Given the description of an element on the screen output the (x, y) to click on. 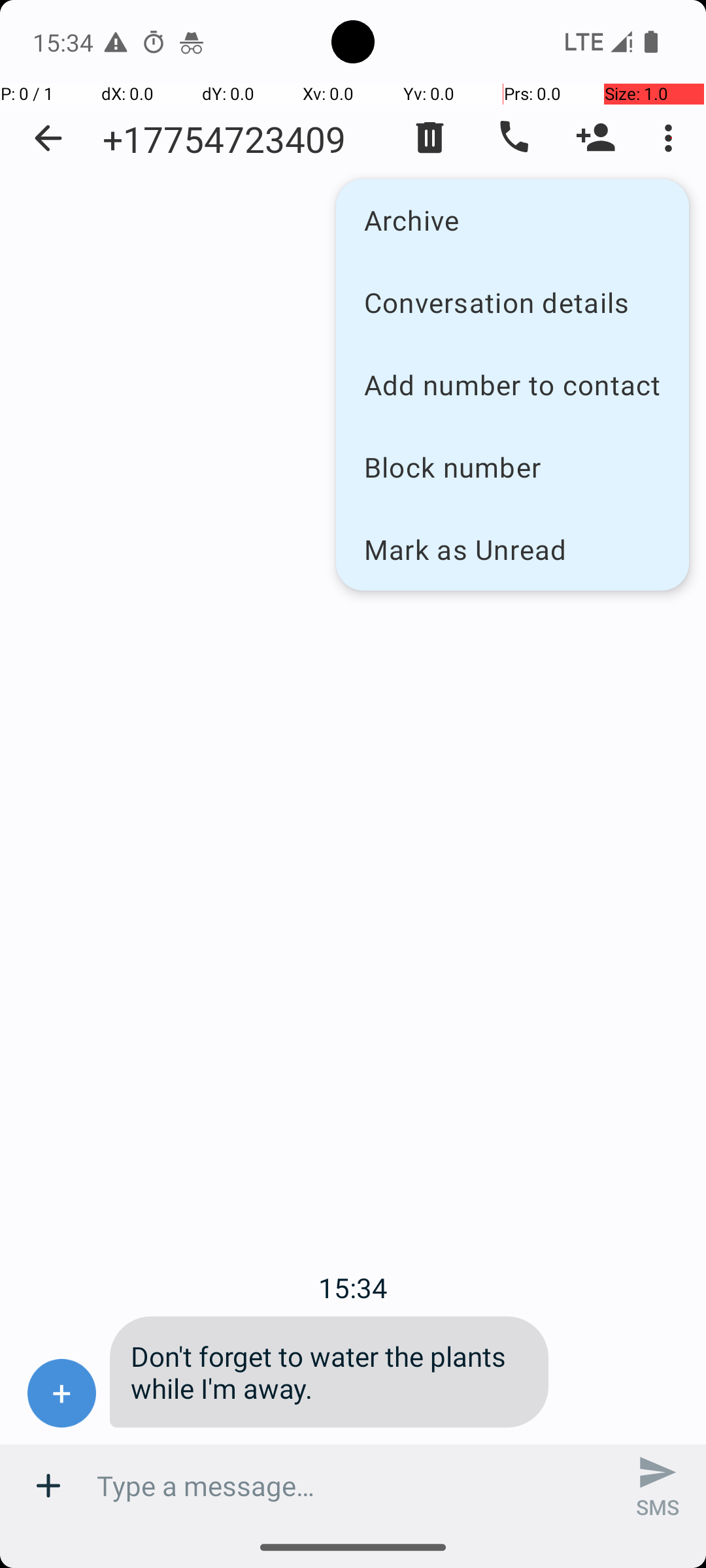
Archive Element type: android.widget.TextView (512, 219)
Conversation details Element type: android.widget.TextView (512, 301)
Add number to contact Element type: android.widget.TextView (512, 384)
Block number Element type: android.widget.TextView (512, 466)
Mark as Unread Element type: android.widget.TextView (512, 548)
